Given the description of an element on the screen output the (x, y) to click on. 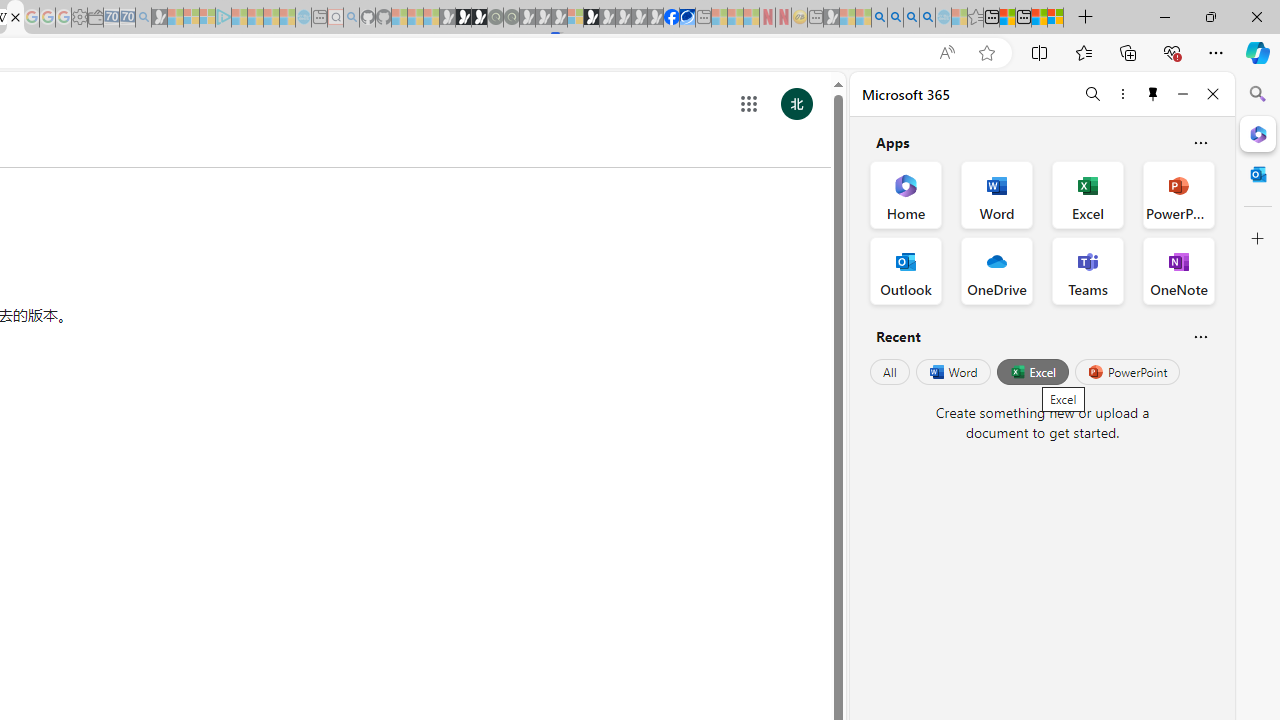
Excel Office App (1087, 194)
Close Microsoft 365 pane (1258, 133)
Home Office App (906, 194)
Bing Real Estate - Home sales and rental listings - Sleeping (143, 17)
Teams Office App (1087, 270)
Is this helpful? (1200, 336)
PowerPoint Office App (1178, 194)
Cheap Car Rentals - Save70.com - Sleeping (127, 17)
Favorites - Sleeping (975, 17)
